Given the description of an element on the screen output the (x, y) to click on. 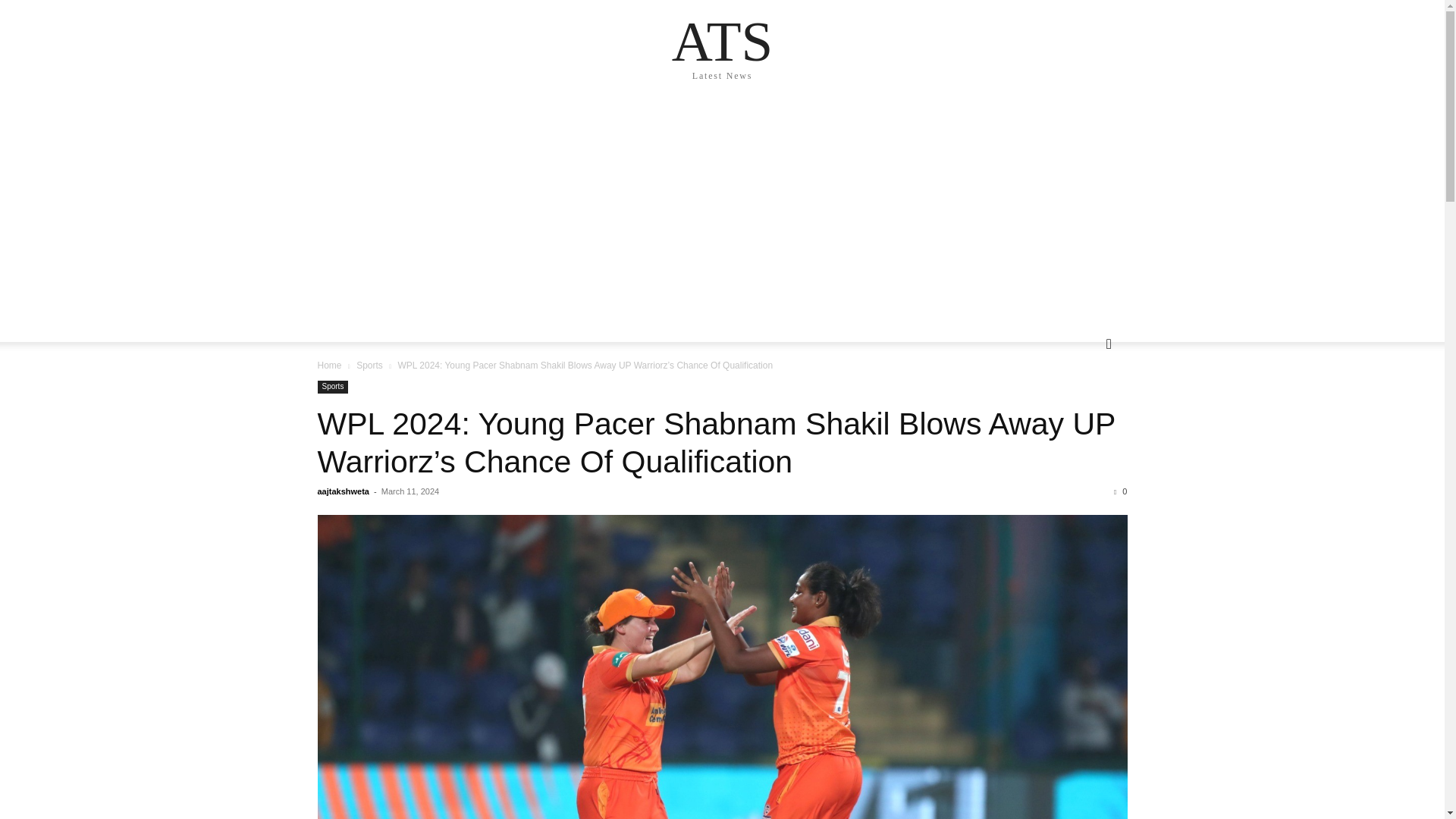
Sports (369, 365)
Home (328, 365)
Sports (332, 386)
aajtakshweta (342, 491)
ATS (722, 41)
Search (1085, 404)
View all posts in Sports (369, 365)
0 (1119, 491)
